Given the description of an element on the screen output the (x, y) to click on. 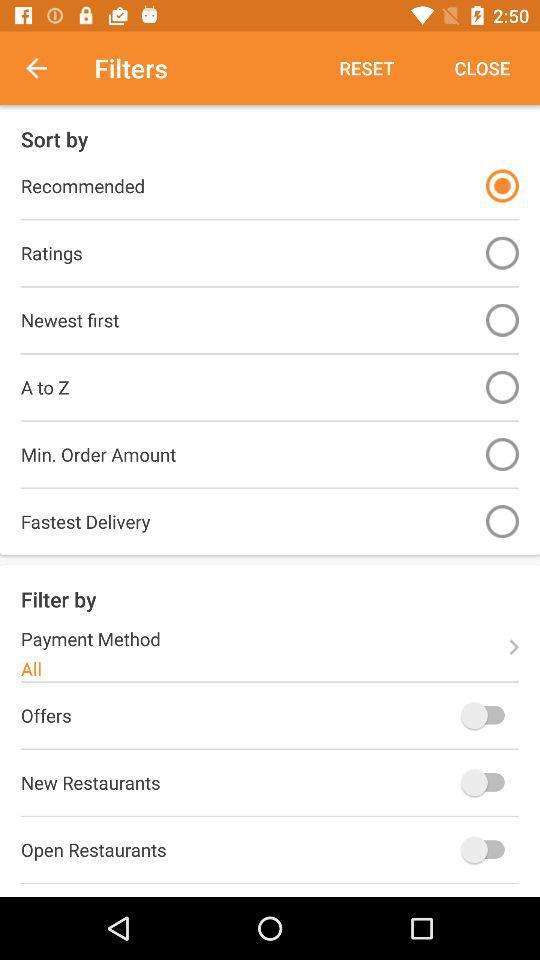
toggle offers (487, 715)
